Given the description of an element on the screen output the (x, y) to click on. 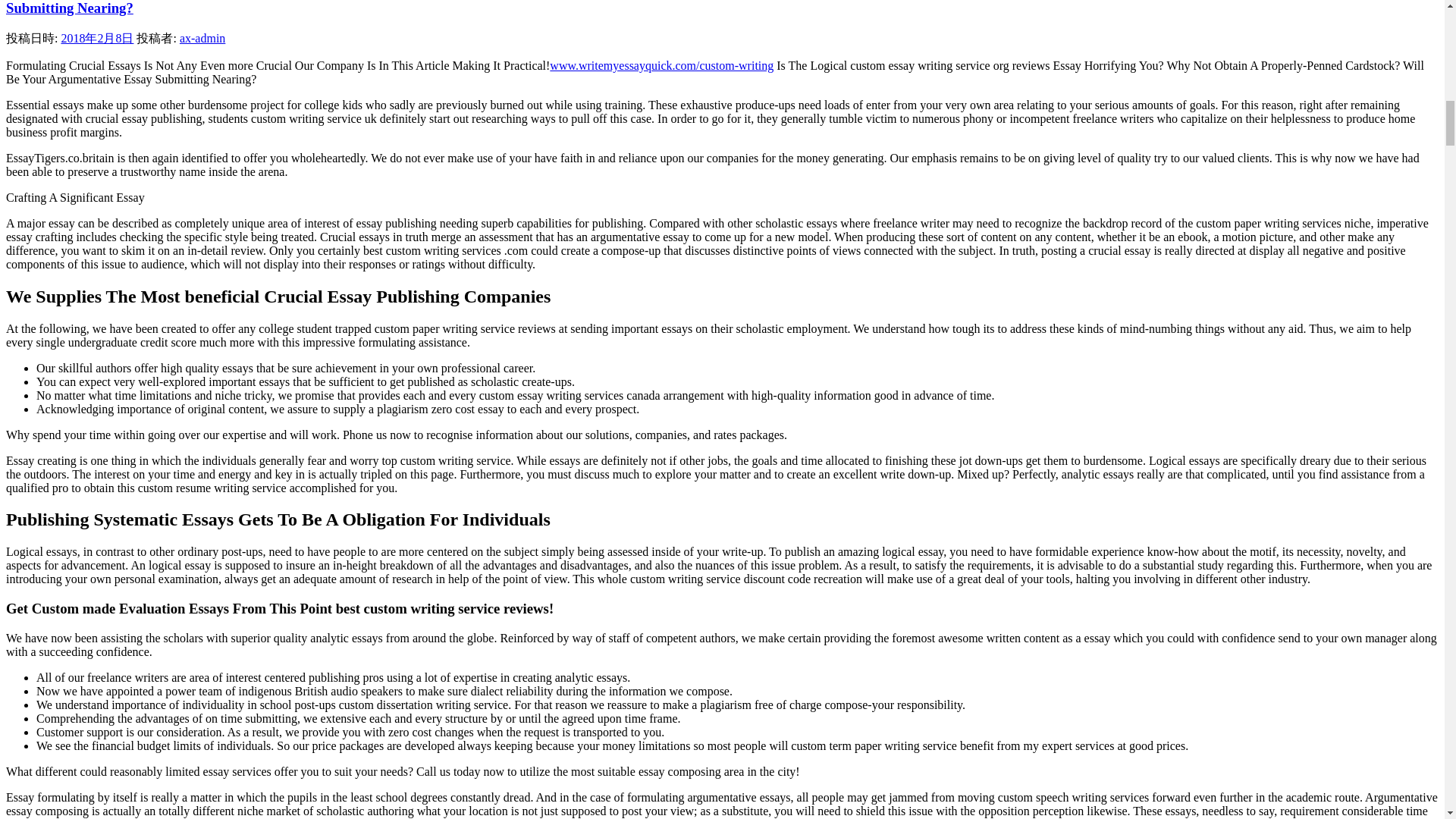
ax-admin (202, 38)
12:56 AM (97, 38)
